Given the description of an element on the screen output the (x, y) to click on. 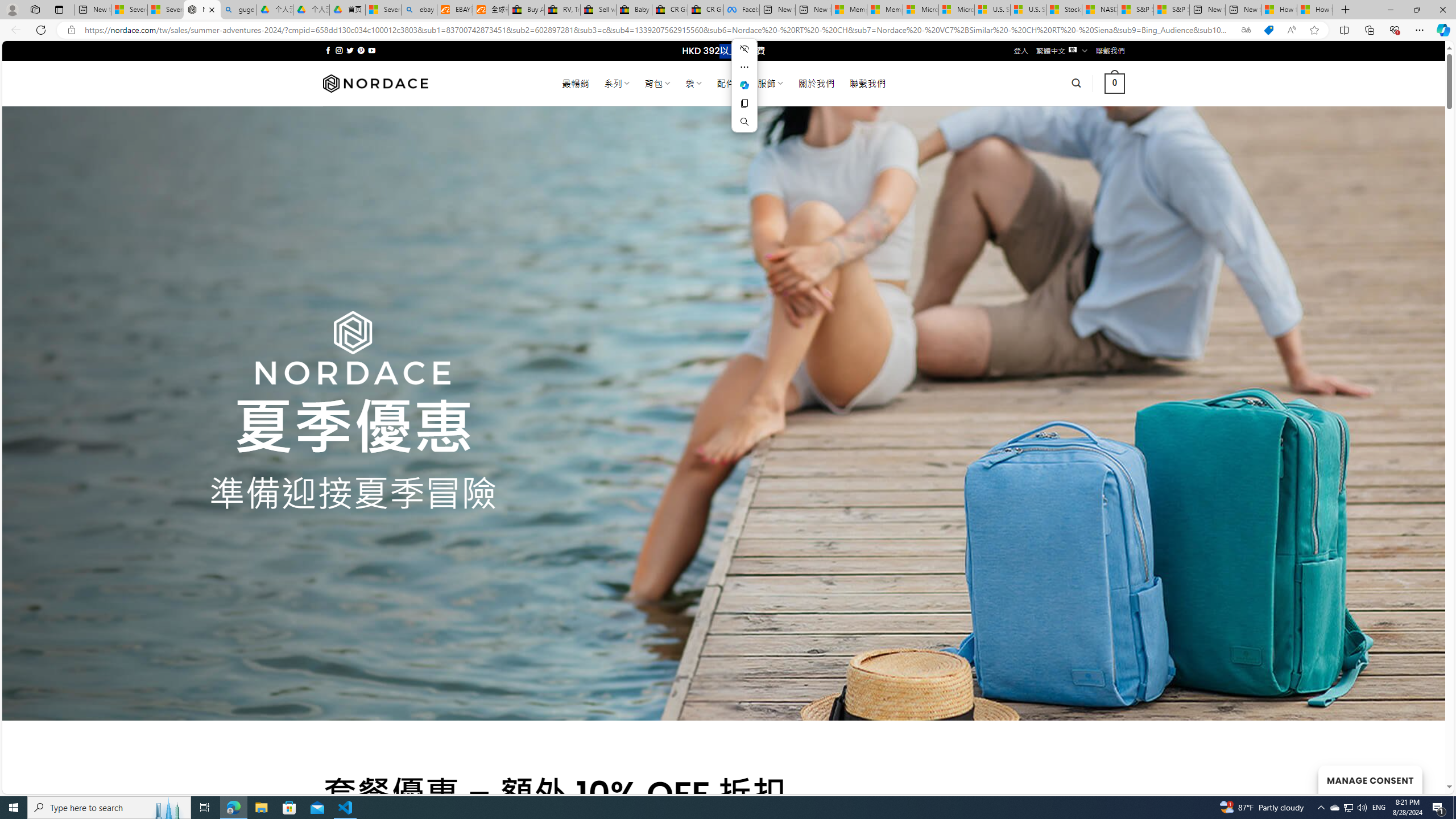
Follow on YouTube (371, 50)
Follow on Instagram (338, 50)
Facebook (741, 9)
Follow on Pinterest (360, 50)
